Given the description of an element on the screen output the (x, y) to click on. 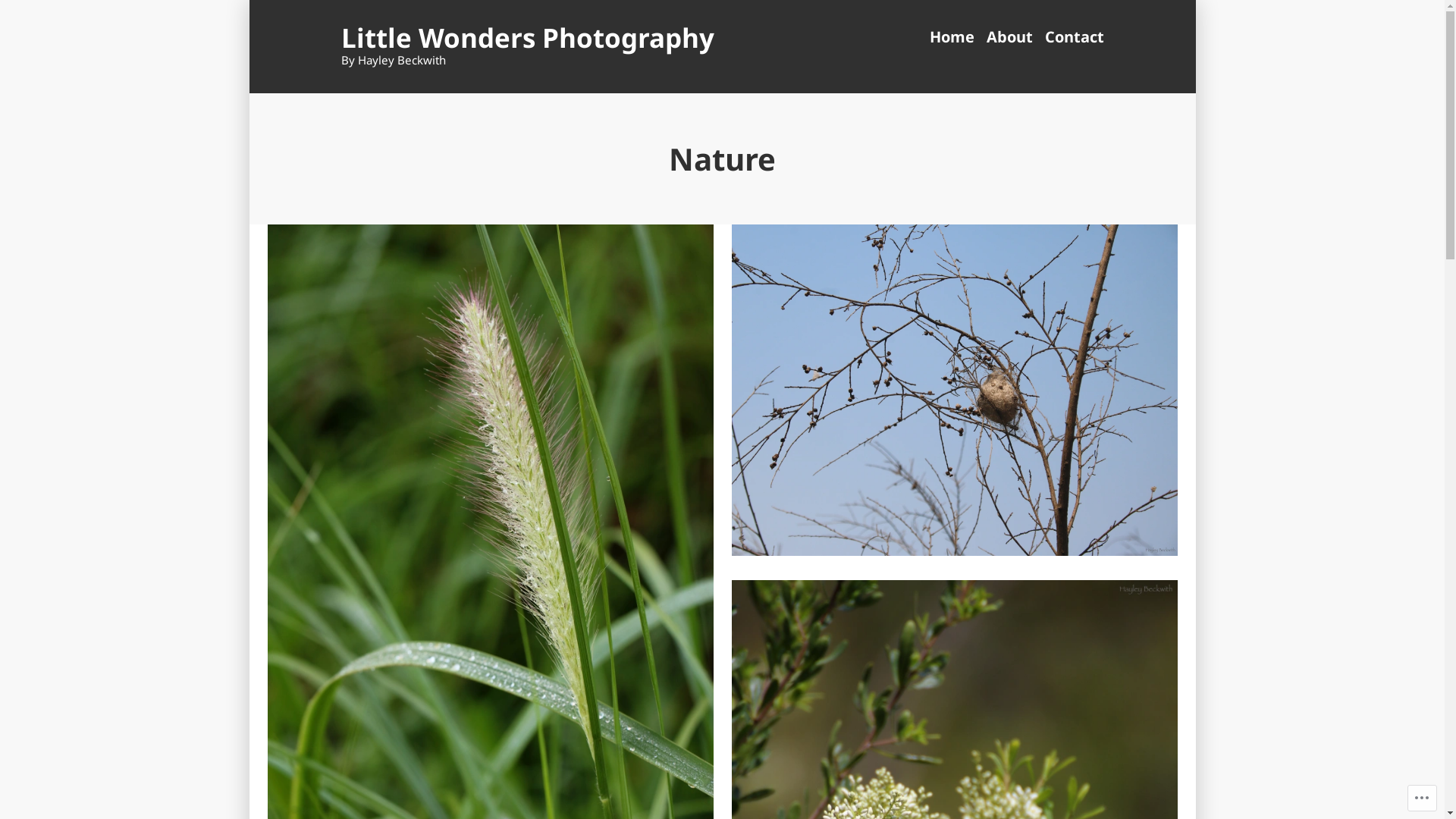
Contact Element type: text (1071, 37)
Little Wonders Photography Element type: text (527, 37)
About Element type: text (1008, 37)
Home Element type: text (954, 37)
